Given the description of an element on the screen output the (x, y) to click on. 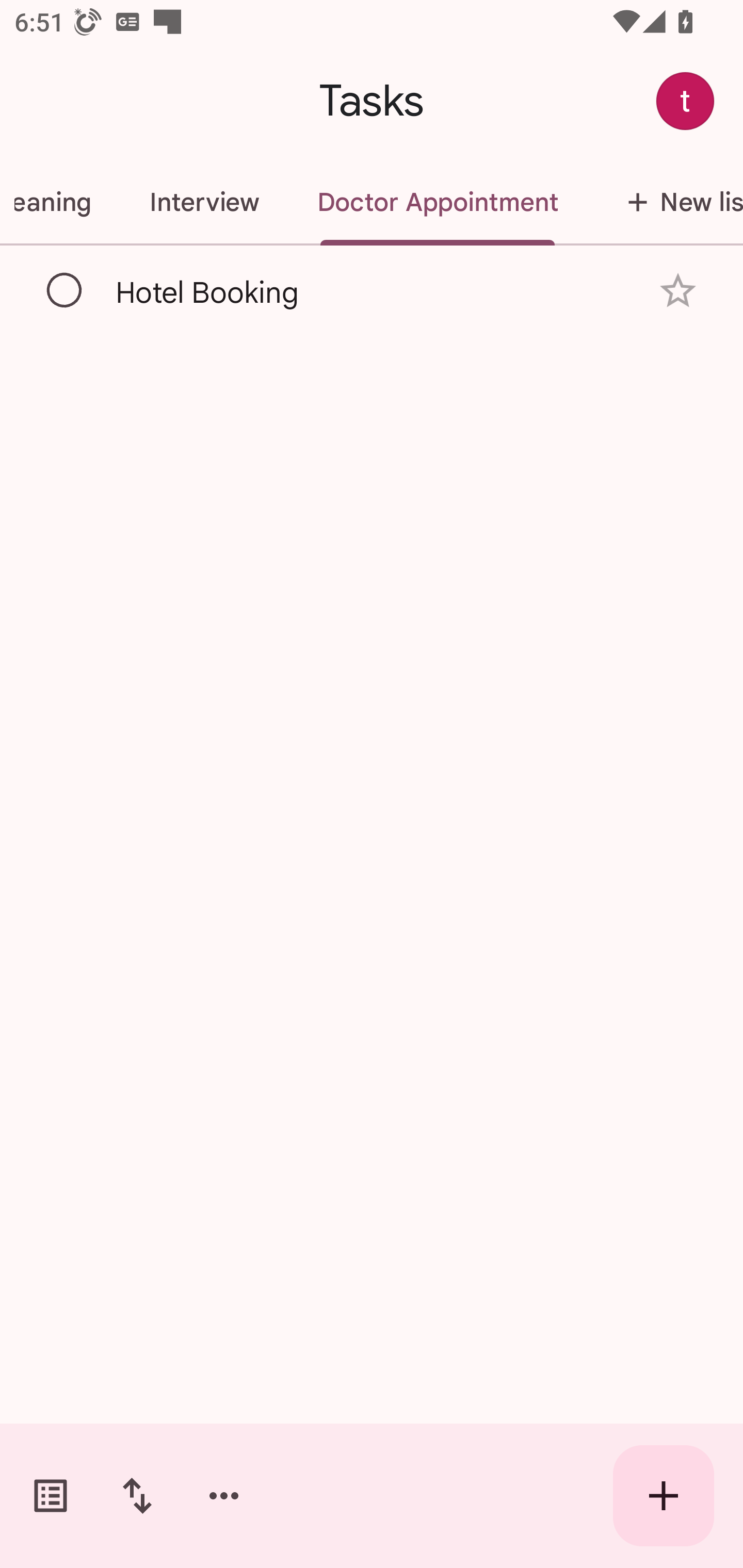
Cleaning (60, 202)
Interview (204, 202)
New list (664, 202)
Add star (677, 290)
Mark as complete (64, 290)
Switch task lists (50, 1495)
Create new task (663, 1495)
Change sort order (136, 1495)
More options (223, 1495)
